Given the description of an element on the screen output the (x, y) to click on. 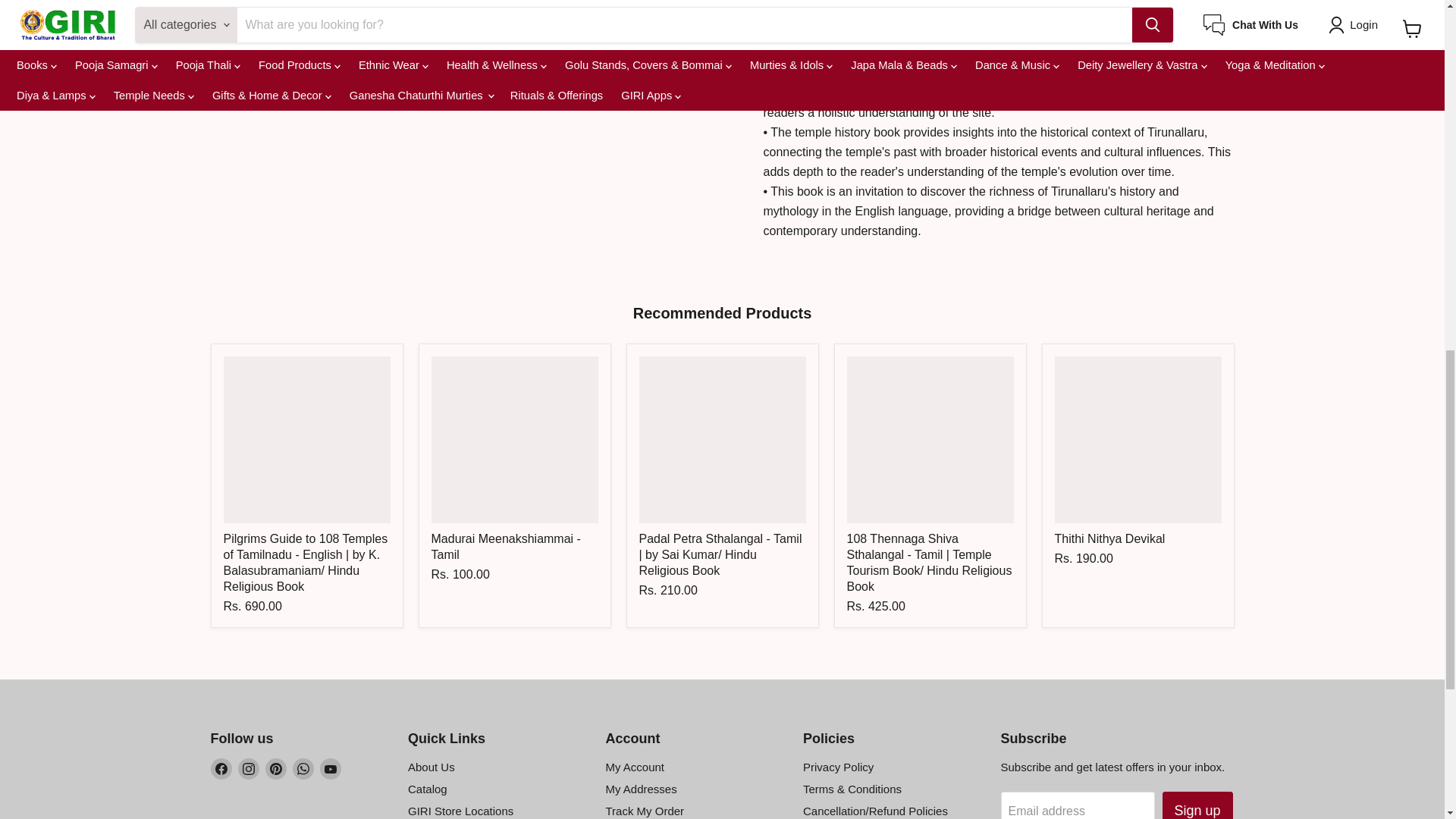
WhatsApp (303, 768)
YouTube (330, 768)
Pinterest (275, 768)
Facebook (221, 768)
Instagram (248, 768)
